Given the description of an element on the screen output the (x, y) to click on. 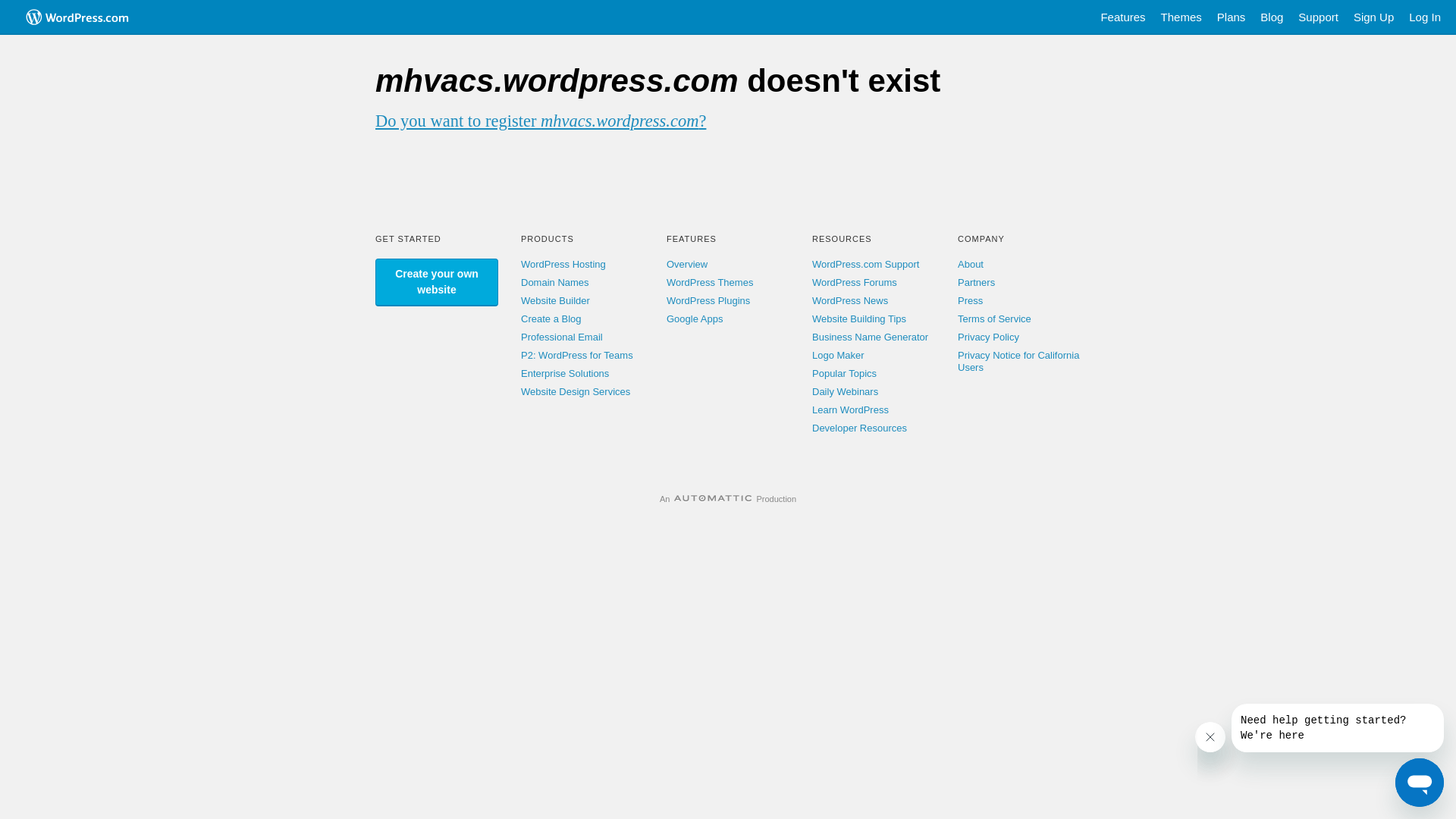
Website Building Tips Element type: text (859, 318)
Daily Webinars Element type: text (845, 391)
Create a Blog Element type: text (550, 318)
WordPress Hosting Element type: text (562, 263)
Learn WordPress Element type: text (850, 409)
Privacy Policy Element type: text (988, 336)
Sign Up Element type: text (1373, 17)
Google Apps Element type: text (694, 318)
Professional Email Element type: text (561, 336)
P2: WordPress for Teams Element type: text (576, 354)
Message from company Element type: hover (1337, 727)
Domain Names Element type: text (554, 282)
Press Element type: text (969, 300)
Close message Element type: hover (1210, 736)
Features Element type: text (1122, 17)
Themes Element type: text (1181, 17)
About Element type: text (970, 263)
Logo Maker Element type: text (838, 354)
WordPress Themes Element type: text (709, 282)
Terms of Service Element type: text (994, 318)
Developer Resources Element type: text (859, 427)
WordPress News Element type: text (850, 300)
Enterprise Solutions Element type: text (564, 373)
Plans Element type: text (1231, 17)
Blog Element type: text (1271, 17)
Partners Element type: text (975, 282)
Create your own website Element type: text (436, 282)
Business Name Generator Element type: text (870, 336)
Popular Topics Element type: text (844, 373)
Support Element type: text (1318, 17)
Automattic Element type: text (712, 498)
Website Builder Element type: text (554, 300)
Website Design Services Element type: text (575, 391)
WordPress Plugins Element type: text (707, 300)
Do you want to register mhvacs.wordpress.com? Element type: text (540, 120)
Overview Element type: text (686, 263)
WordPress Forums Element type: text (854, 282)
WordPress.com Support Element type: text (865, 263)
Log In Element type: text (1424, 17)
Privacy Notice for California Users Element type: text (1018, 361)
Button to launch messaging window Element type: hover (1419, 782)
